Given the description of an element on the screen output the (x, y) to click on. 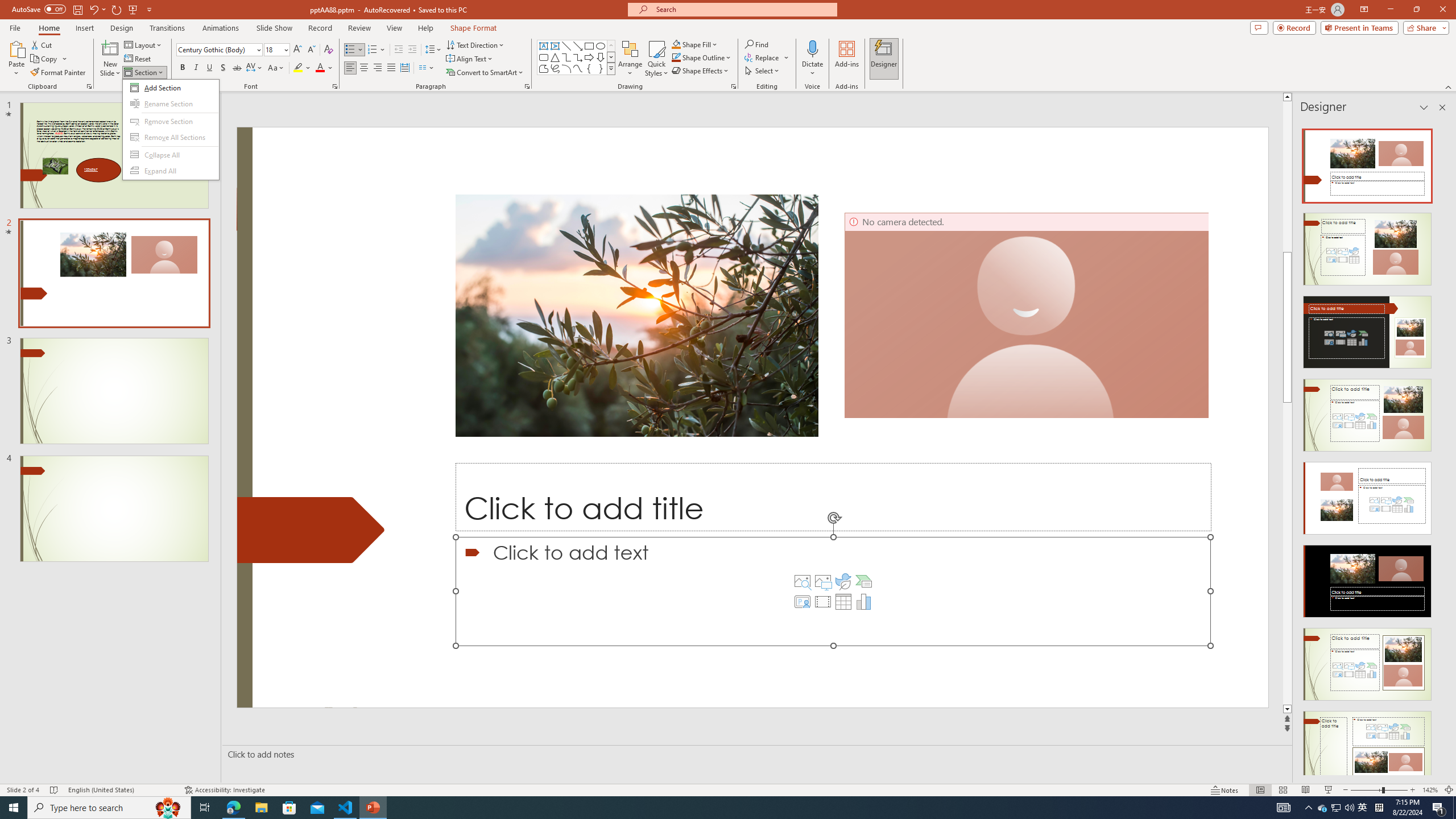
Insert a SmartArt Graphic (863, 581)
Shape Outline Teal, Accent 1 (675, 56)
Insert Cameo (801, 601)
